Given the description of an element on the screen output the (x, y) to click on. 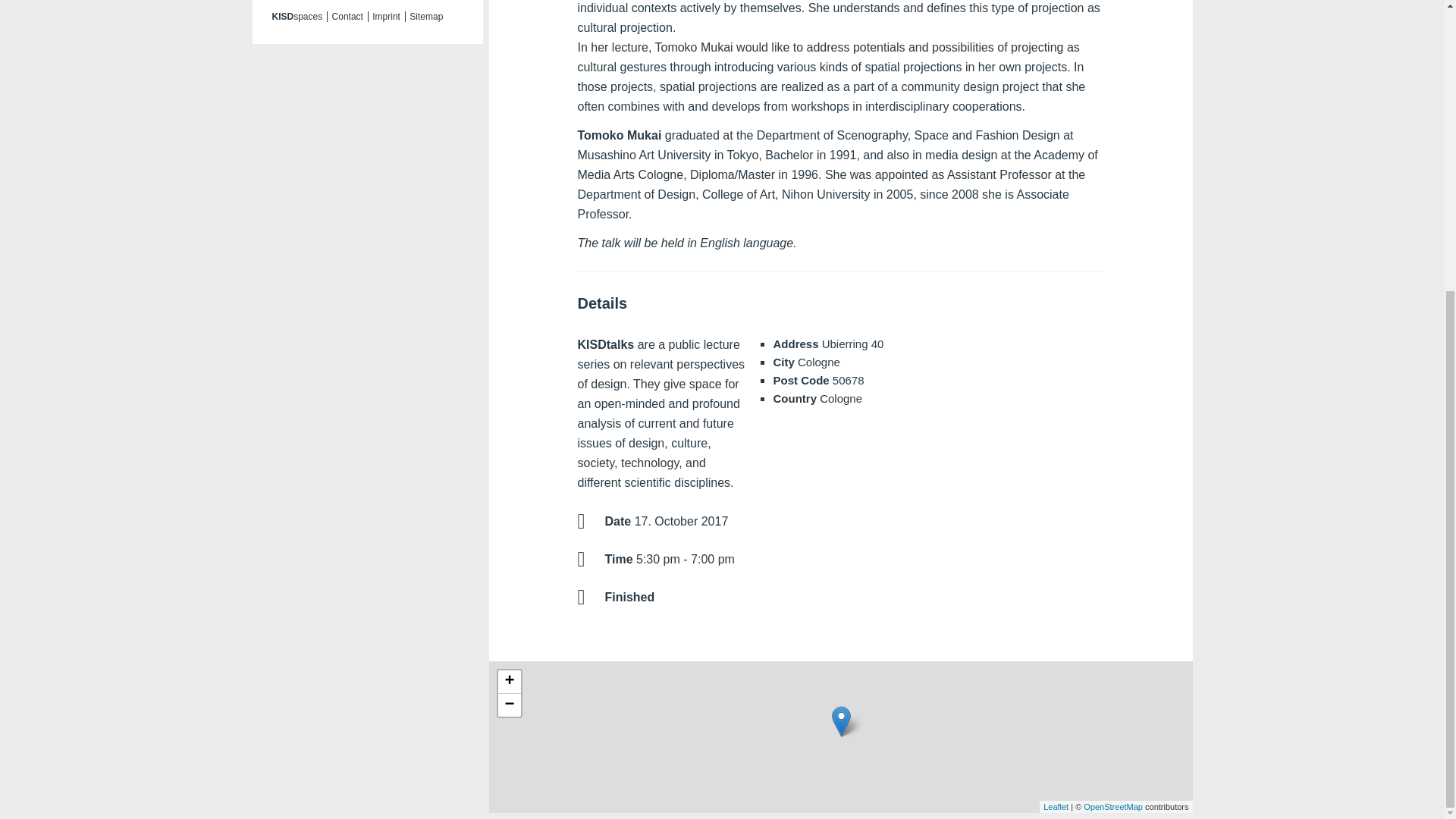
Imprint (386, 16)
Contact (347, 16)
KISDspaces (296, 16)
Sitemap (425, 16)
